Given the description of an element on the screen output the (x, y) to click on. 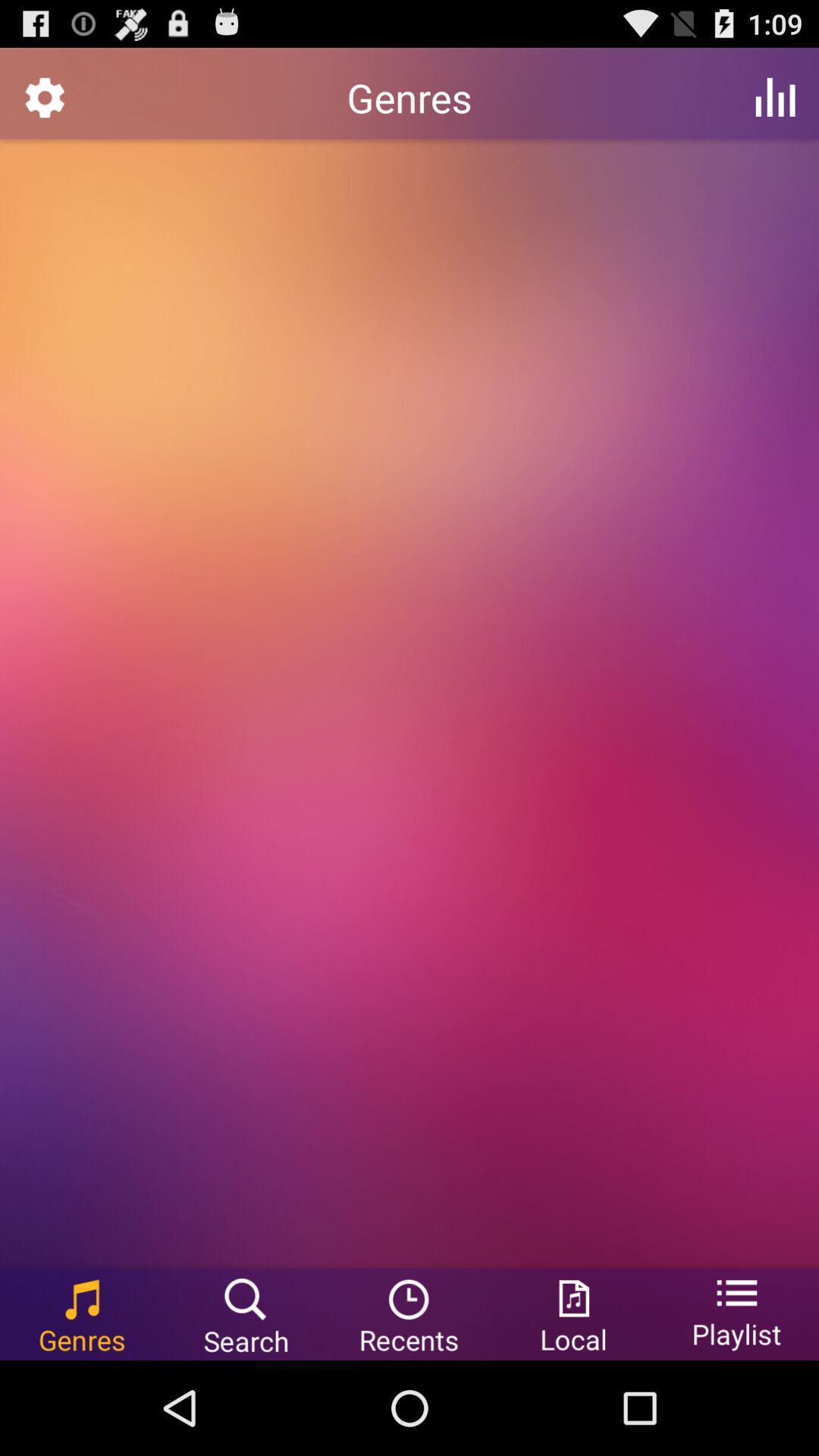
turn on the icon next to the genres app (775, 96)
